Given the description of an element on the screen output the (x, y) to click on. 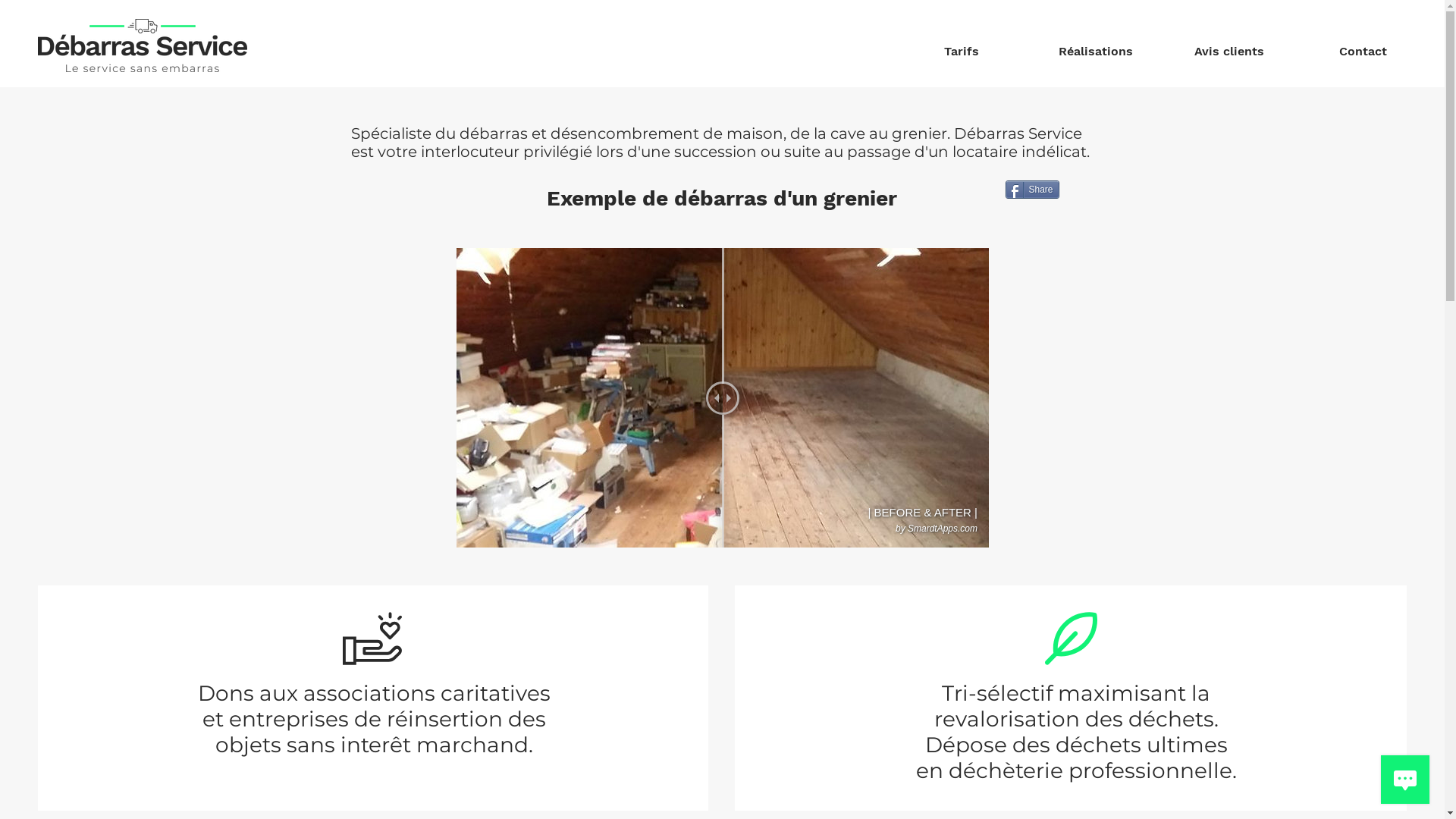
Contact Element type: text (1362, 44)
Avis clients Element type: text (1228, 44)
Share Element type: text (1032, 189)
Before and After Slider Element type: hover (722, 397)
Tarifs Element type: text (961, 44)
